Given the description of an element on the screen output the (x, y) to click on. 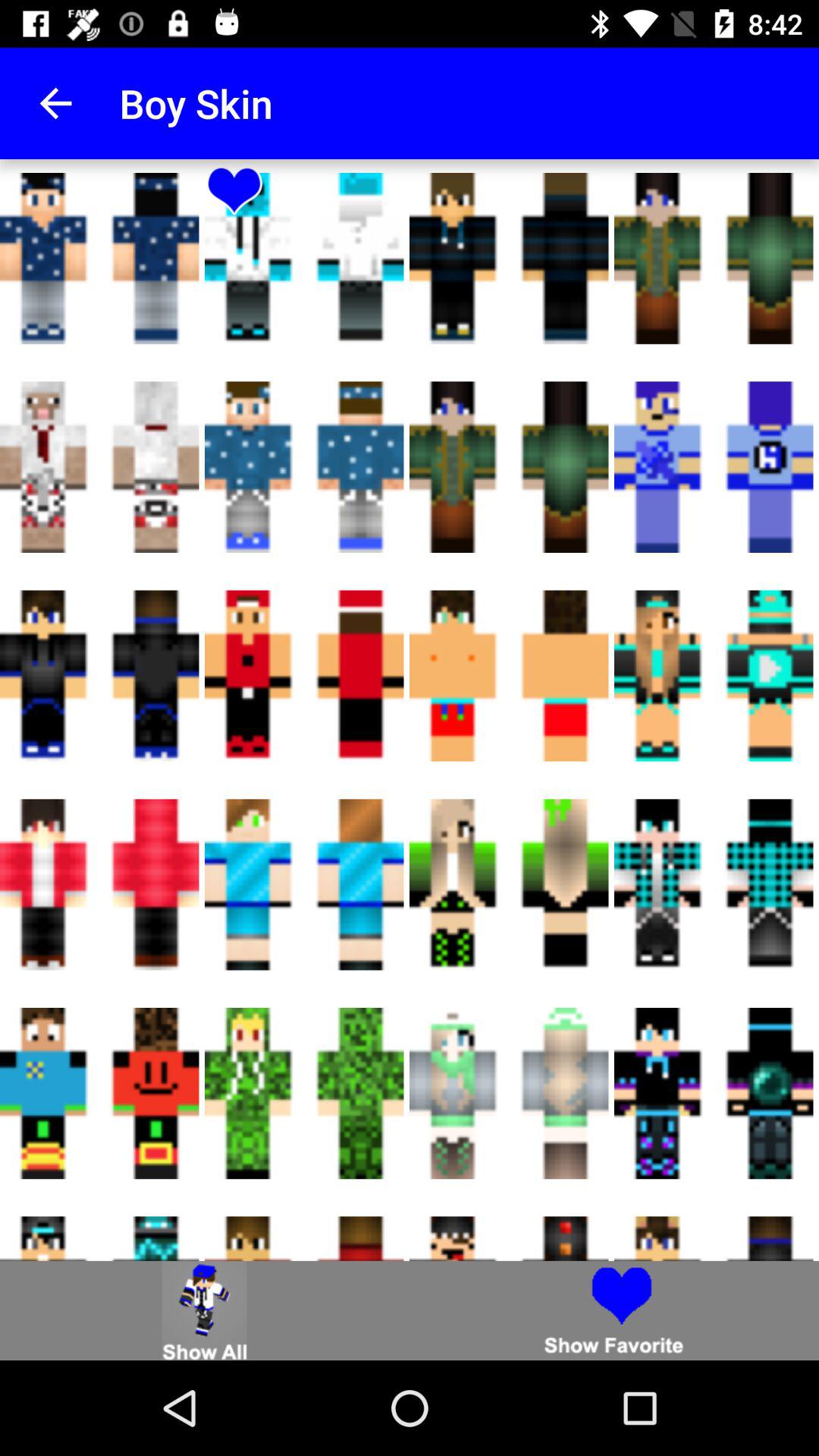
show all skins (204, 1310)
